Given the description of an element on the screen output the (x, y) to click on. 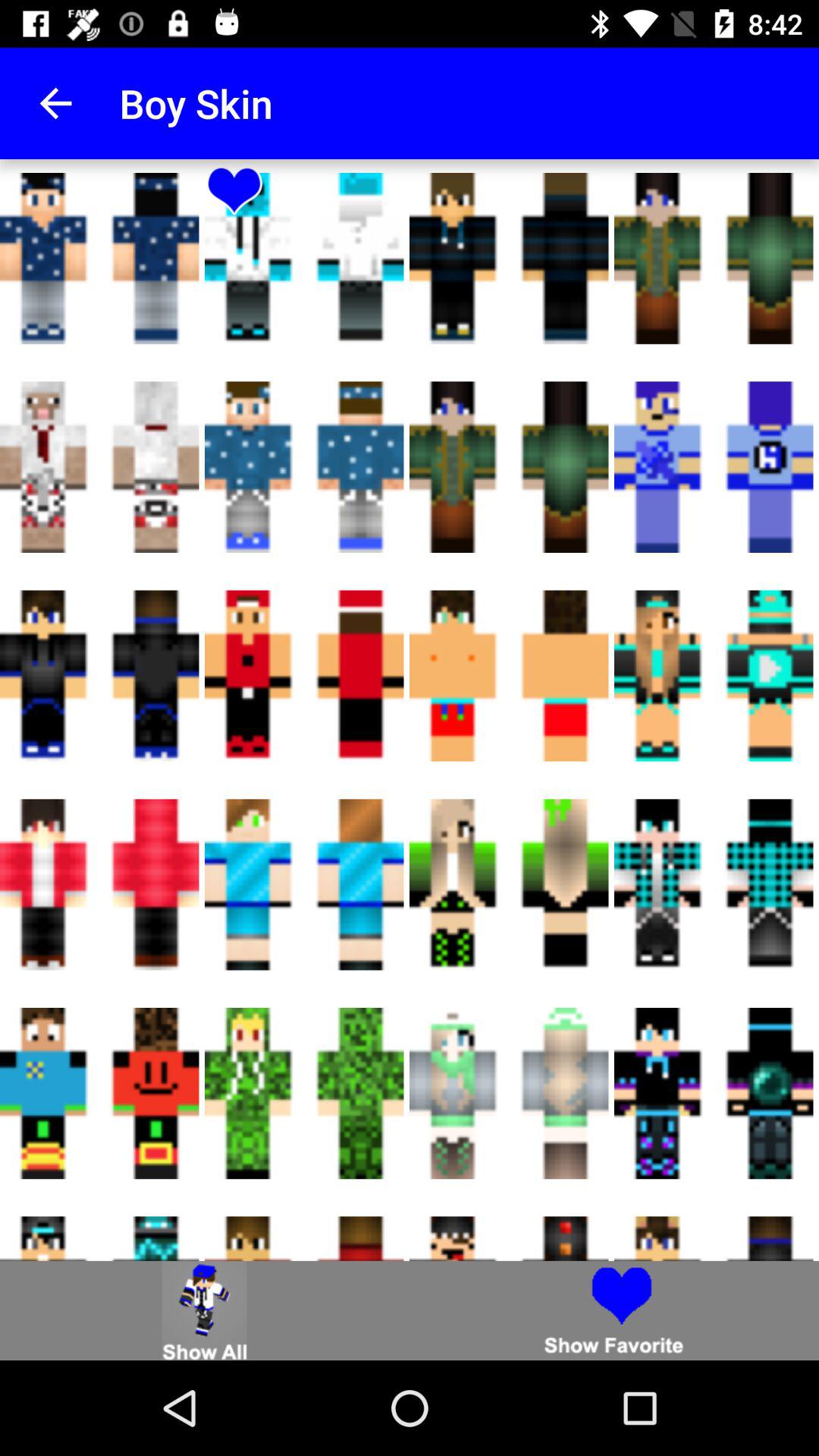
show all skins (204, 1310)
